Given the description of an element on the screen output the (x, y) to click on. 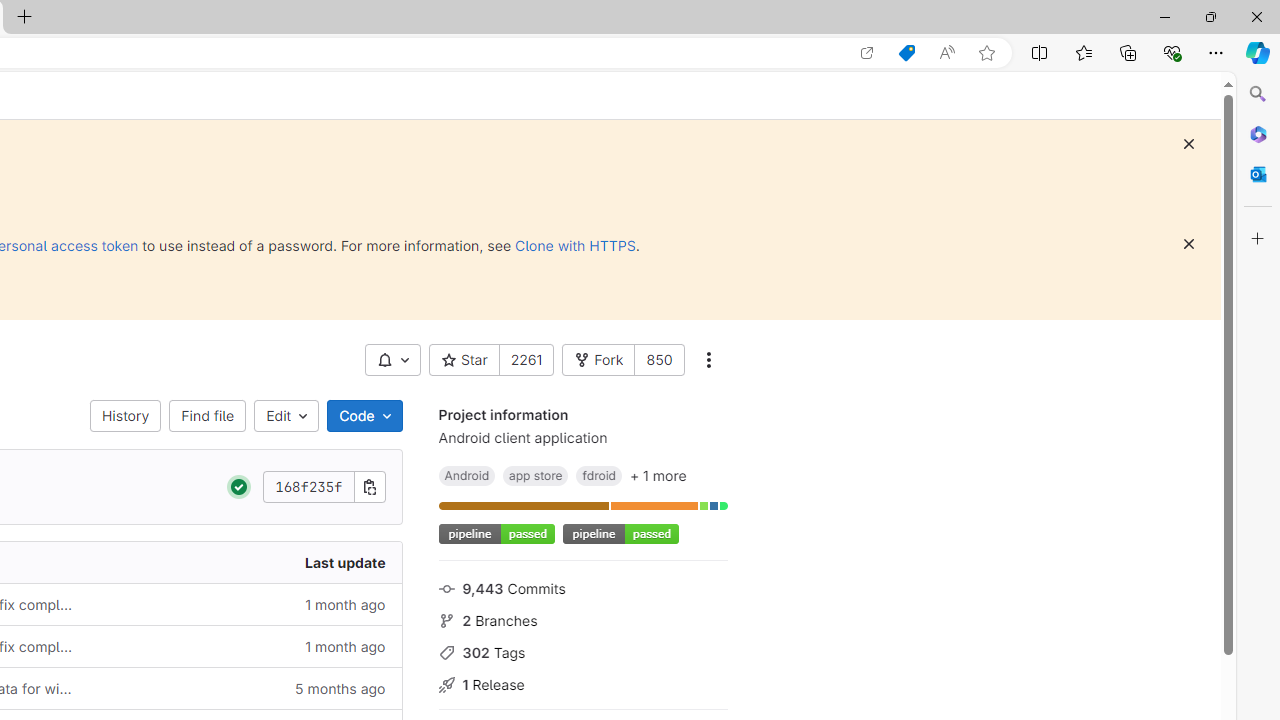
History (125, 416)
2 Branches (582, 619)
Open in app (867, 53)
Copy commit SHA (369, 486)
